Given the description of an element on the screen output the (x, y) to click on. 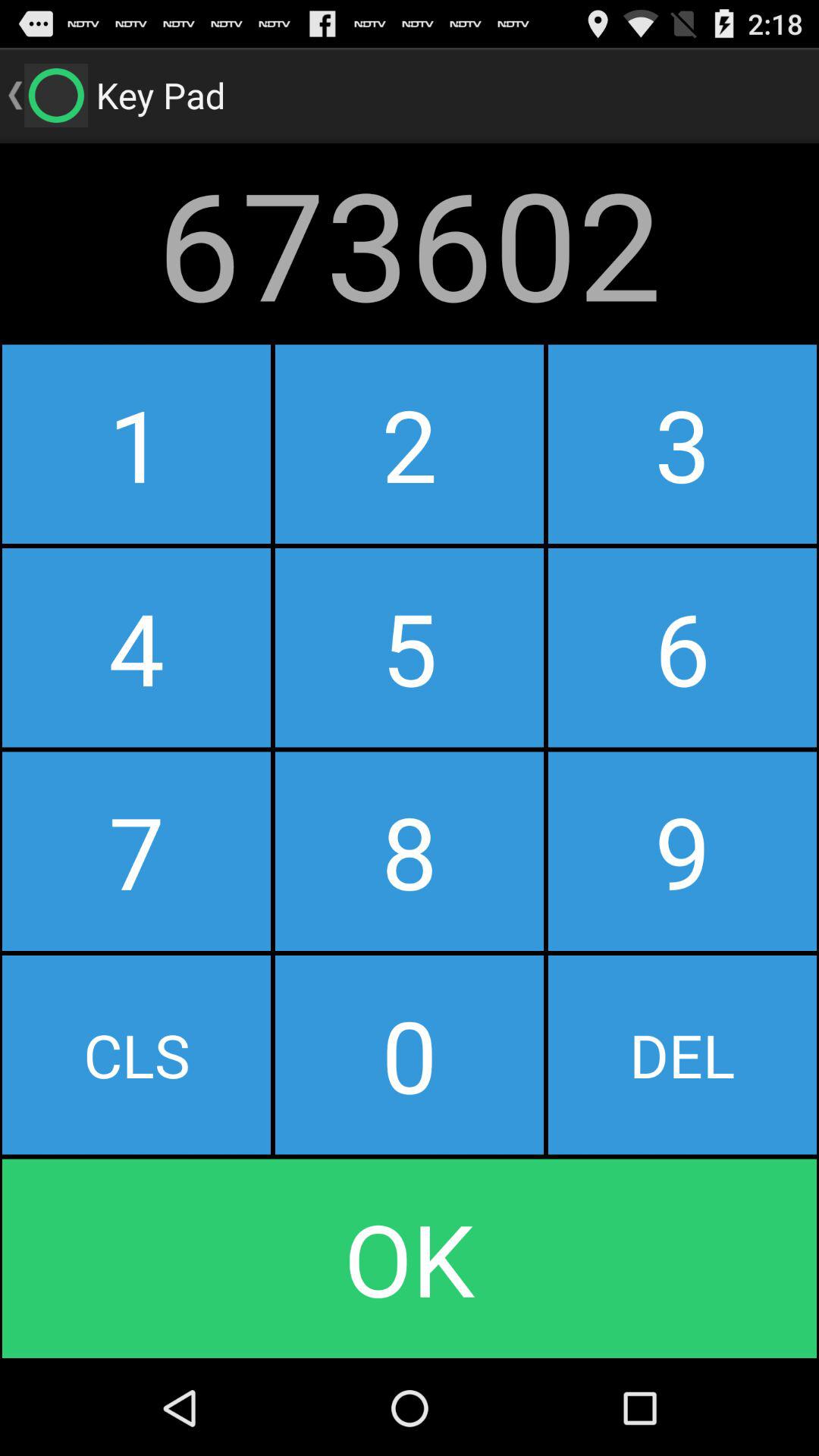
press the item above 4 icon (409, 443)
